Given the description of an element on the screen output the (x, y) to click on. 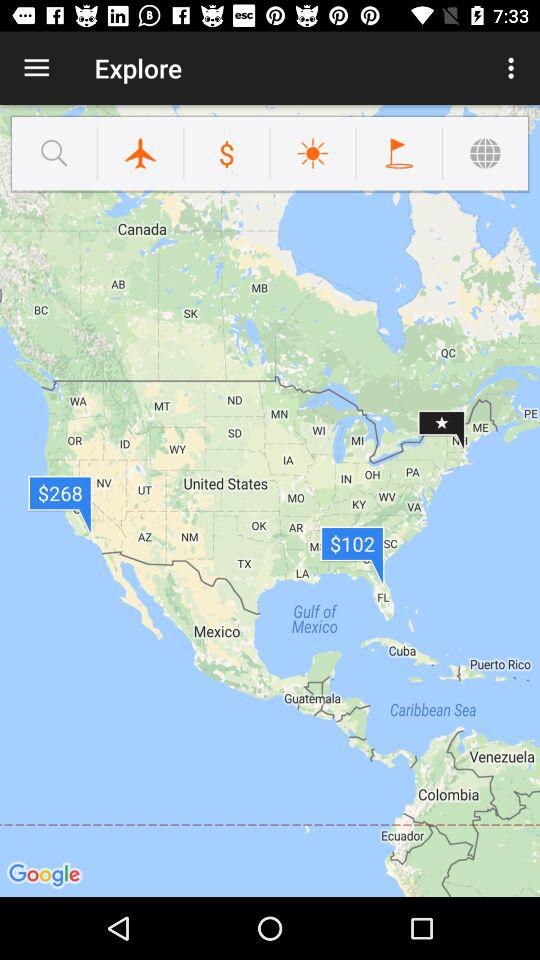
click the item to the right of explore icon (513, 67)
